Given the description of an element on the screen output the (x, y) to click on. 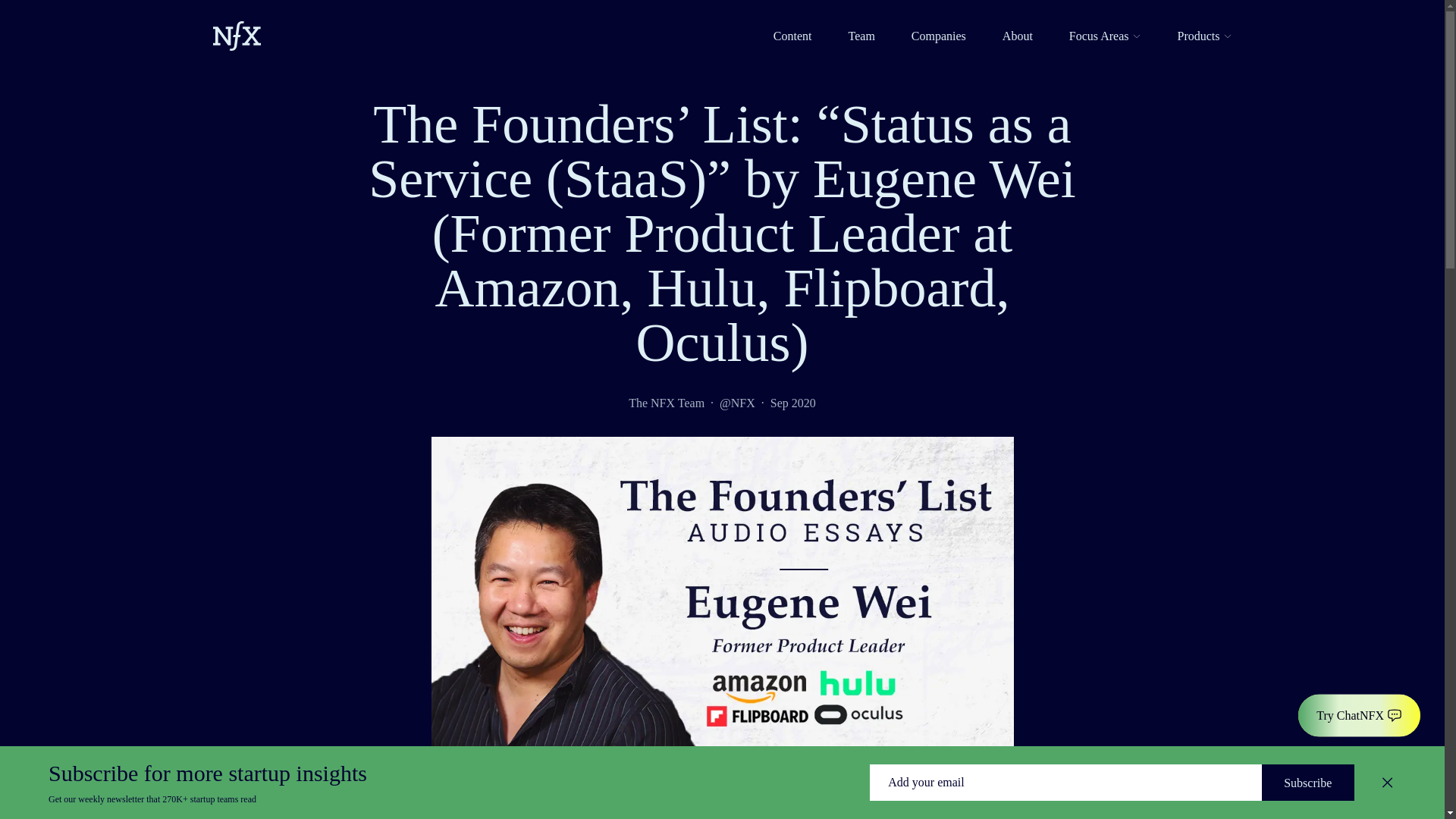
Companies (938, 36)
Focus Areas (1104, 36)
About (1017, 36)
Products (1203, 36)
Content (792, 36)
Team (861, 36)
